Given the description of an element on the screen output the (x, y) to click on. 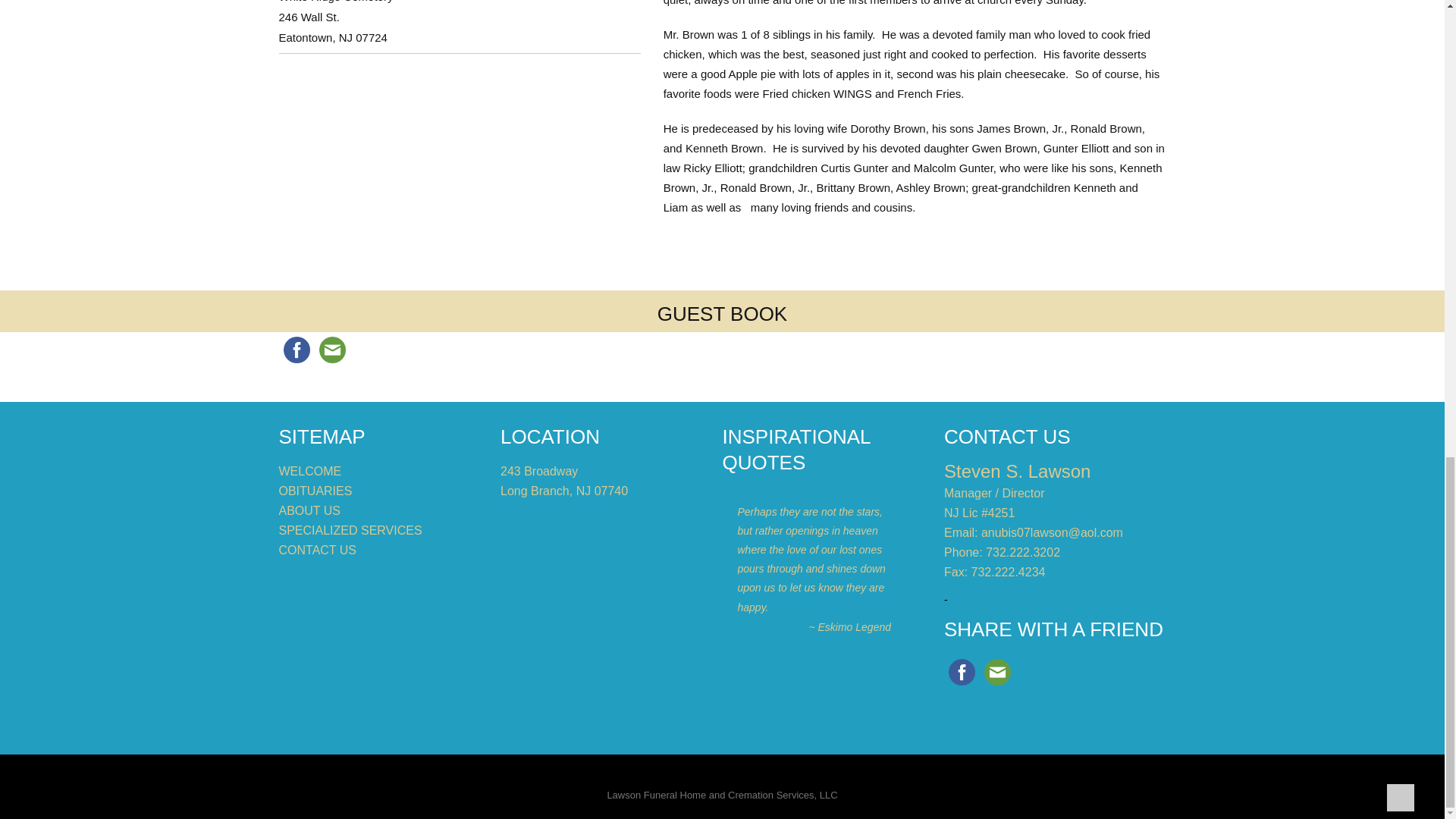
SPECIALIZED SERVICES (350, 530)
WELCOME (310, 471)
CONTACT US (317, 549)
email (996, 672)
facebook (296, 349)
ABOUT US (309, 510)
facebook (961, 672)
OBITUARIES (315, 490)
email (331, 349)
